Given the description of an element on the screen output the (x, y) to click on. 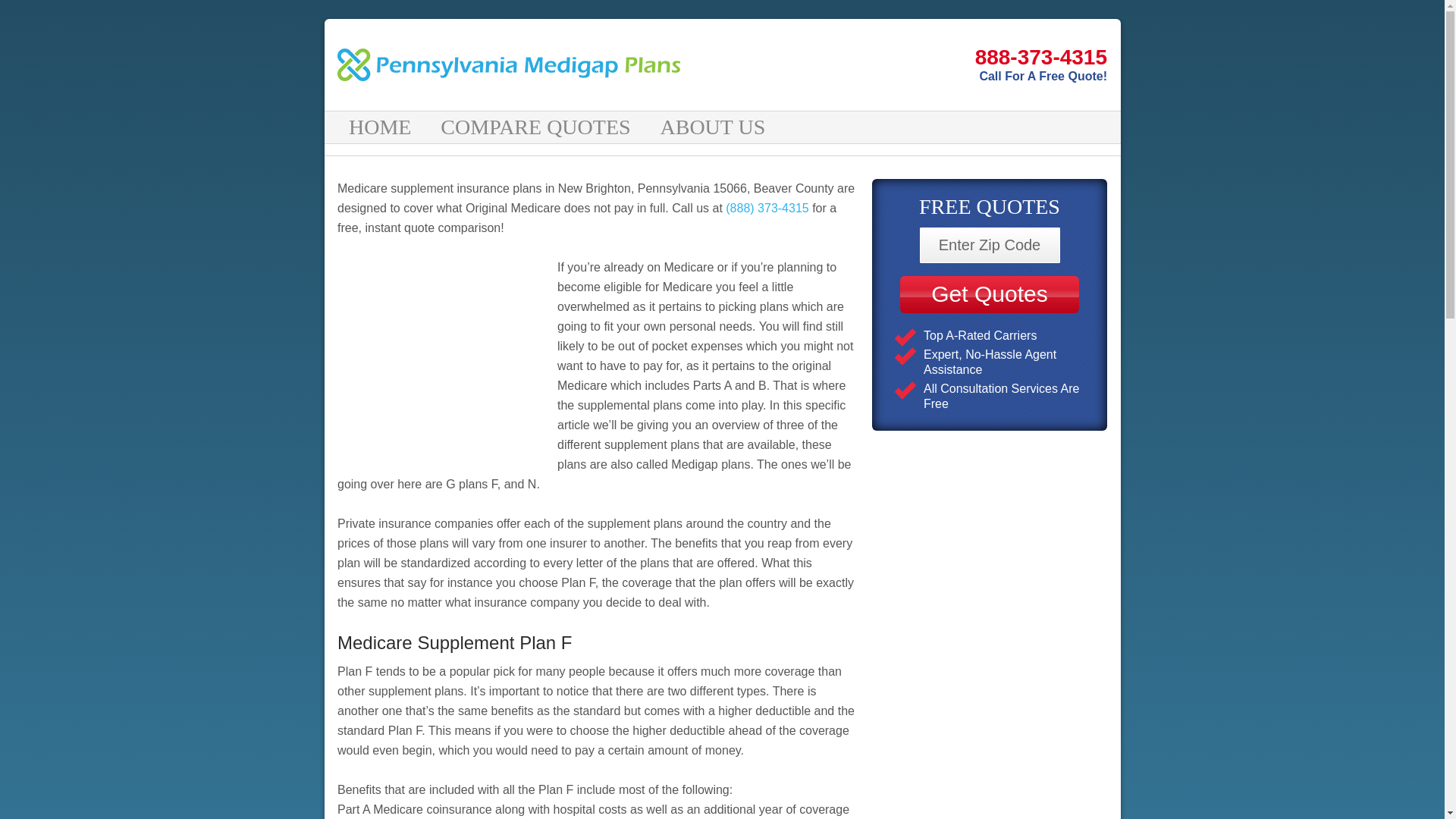
Get Quotes (988, 294)
Get Quotes (988, 294)
ABOUT US (713, 127)
888-373-4315 (905, 57)
HOME (381, 127)
Pennsylvania Medigap Plans (517, 64)
COMPARE QUOTES (537, 127)
